Given the description of an element on the screen output the (x, y) to click on. 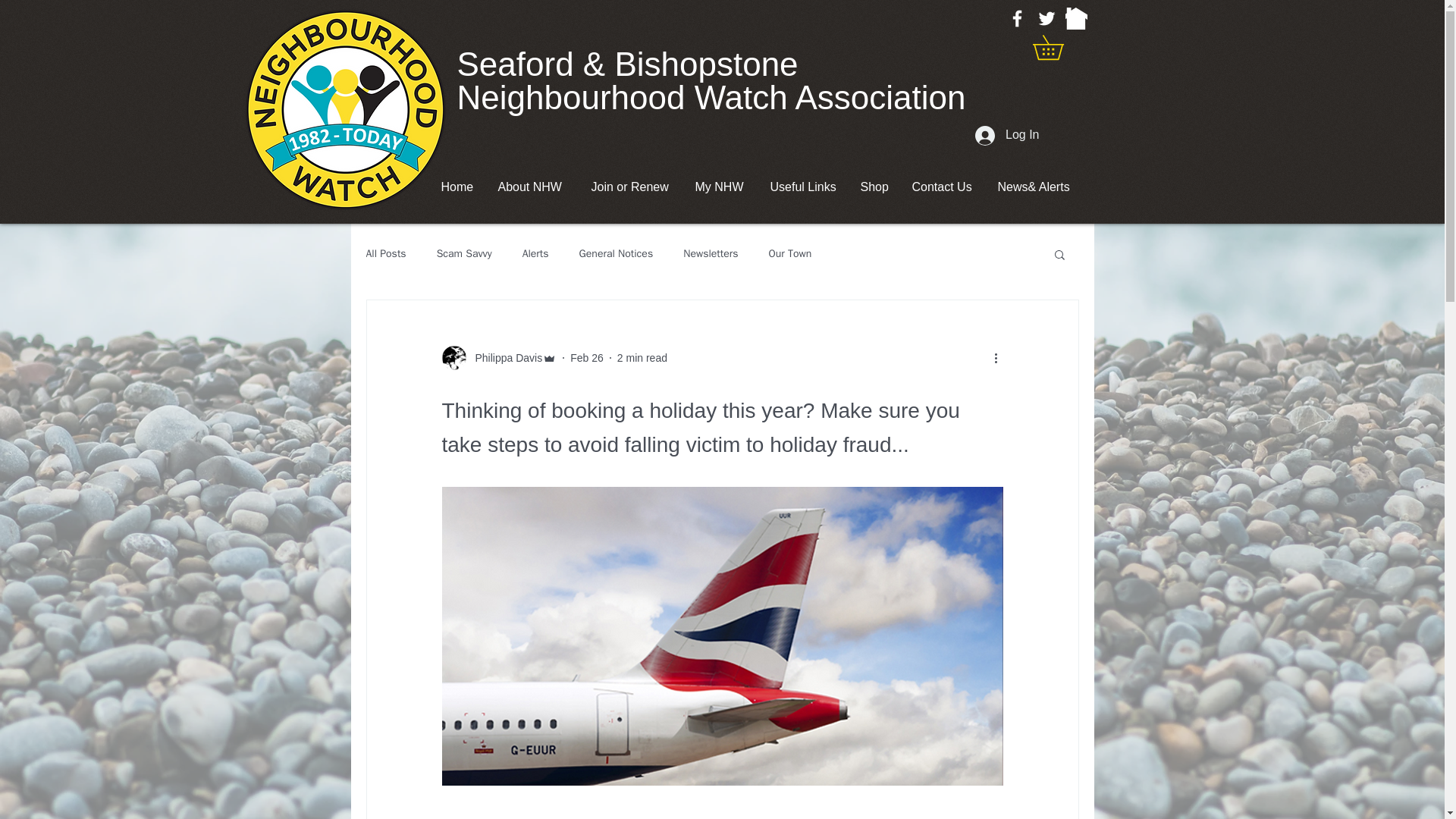
Useful Links (803, 187)
Join or Renew (630, 187)
General Notices (616, 254)
Philippa Davis (503, 358)
Our Town (790, 254)
All Posts (385, 254)
About NHW (532, 187)
Alerts (535, 254)
Newsletters (710, 254)
My NHW (721, 187)
